Given the description of an element on the screen output the (x, y) to click on. 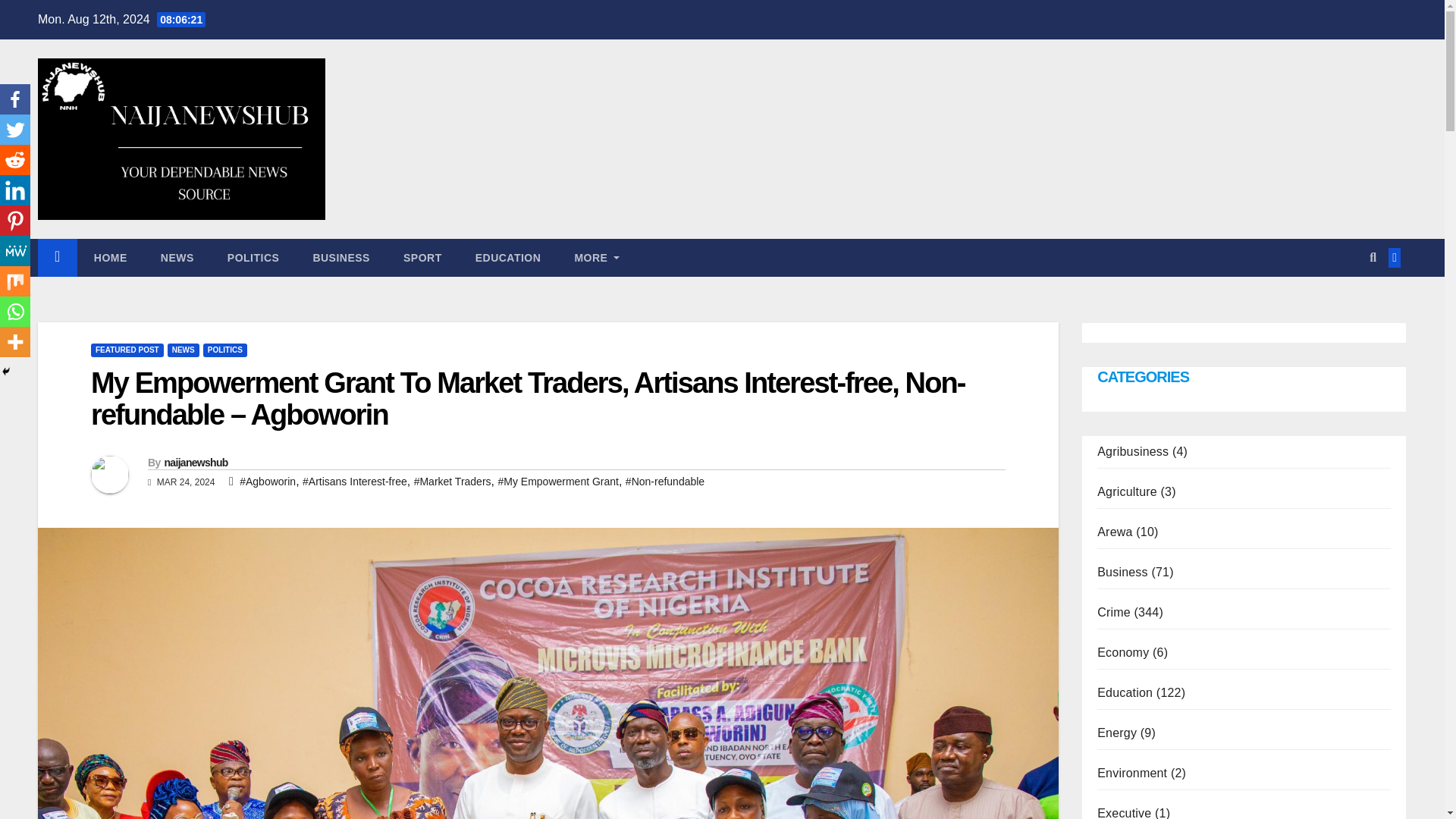
MORE (596, 257)
Politics (254, 257)
NEWS (177, 257)
Sport (422, 257)
EDUCATION (507, 257)
POLITICS (254, 257)
BUSINESS (341, 257)
News (177, 257)
HOME (110, 257)
Education (507, 257)
